Given the description of an element on the screen output the (x, y) to click on. 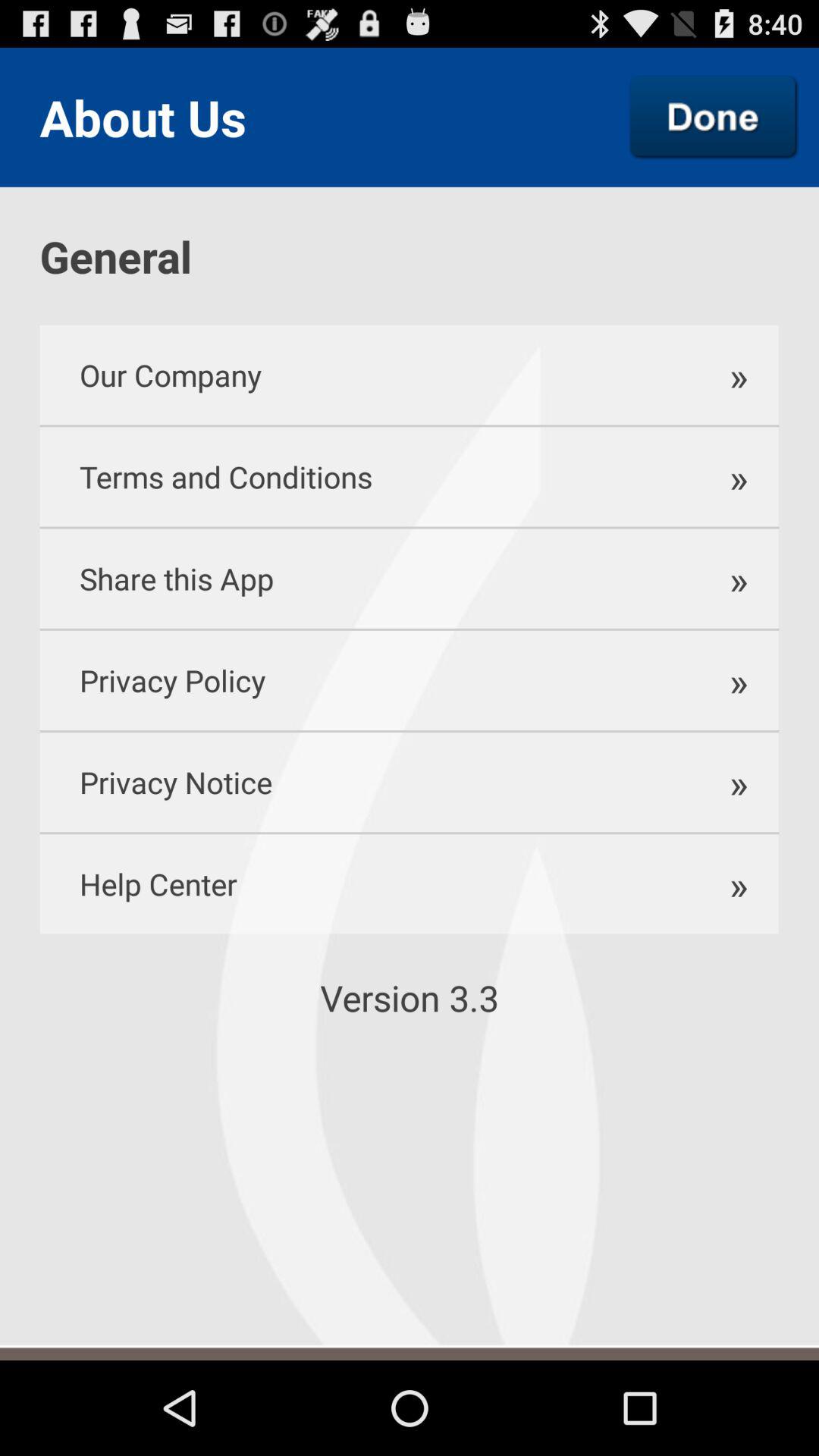
jump to help center (359, 883)
